Given the description of an element on the screen output the (x, y) to click on. 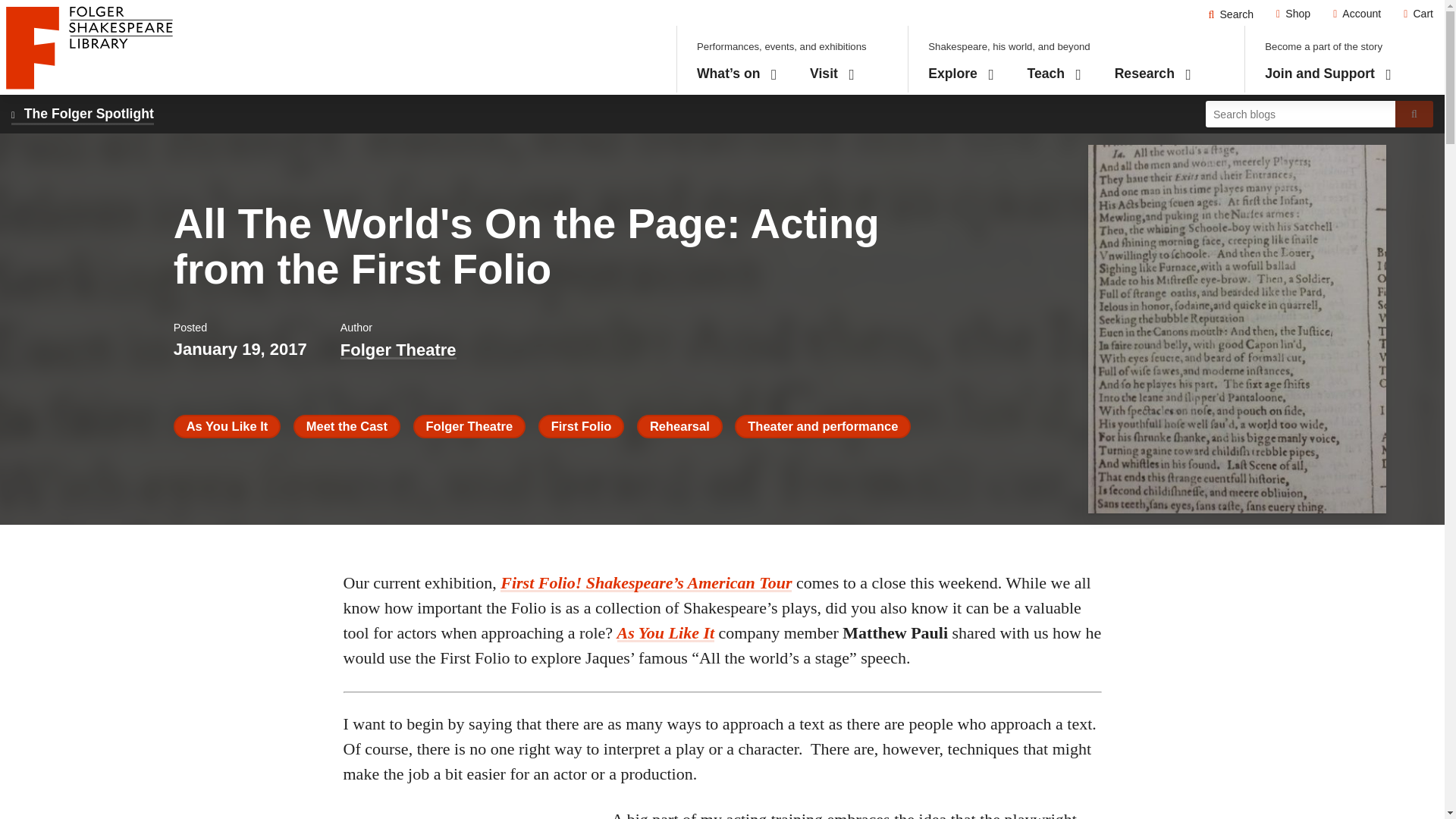
Shop (1293, 13)
Research (1152, 73)
Teach (1230, 14)
Account (1053, 73)
Explore (1356, 13)
Folger Shakespeare Library - Home (961, 73)
Visit (89, 47)
